Given the description of an element on the screen output the (x, y) to click on. 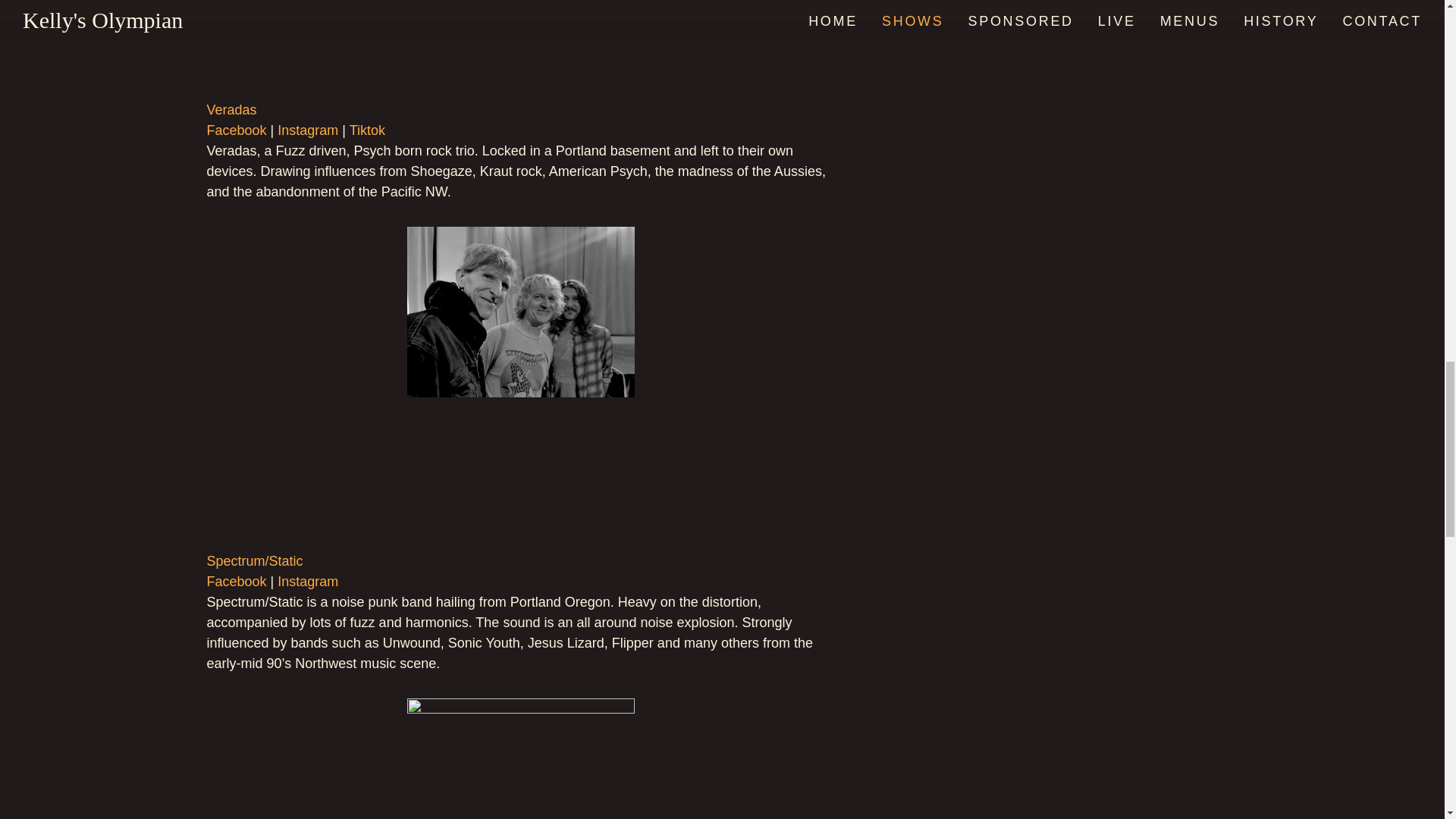
Tiktok (367, 130)
Instagram (307, 581)
Facebook (236, 130)
Veradas (231, 109)
Facebook (236, 581)
Instagram (307, 130)
